Given the description of an element on the screen output the (x, y) to click on. 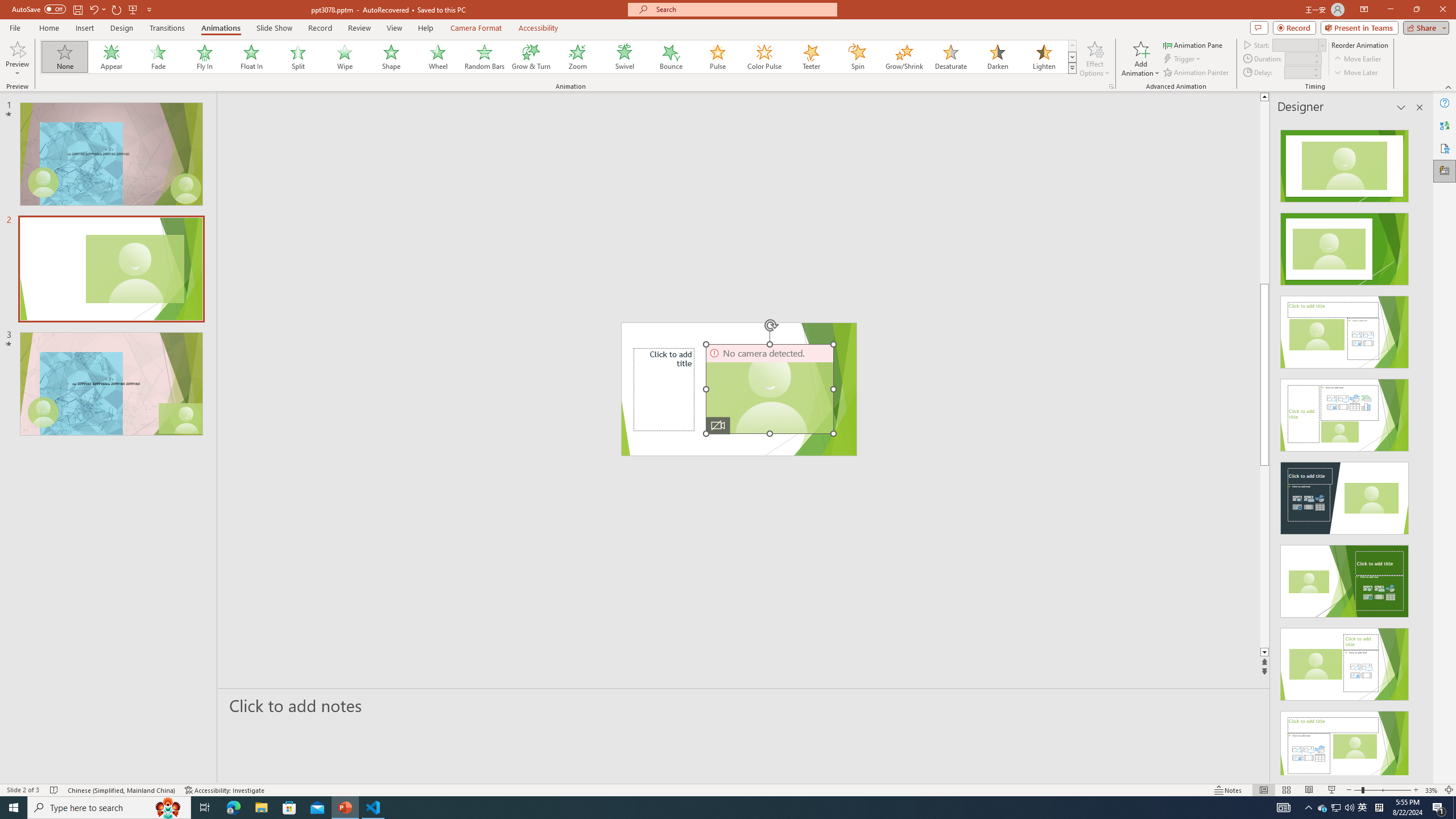
Move Later (1355, 72)
Fly In (205, 56)
Split (298, 56)
Zoom 33% (1431, 790)
Fade (158, 56)
Wheel (437, 56)
